Given the description of an element on the screen output the (x, y) to click on. 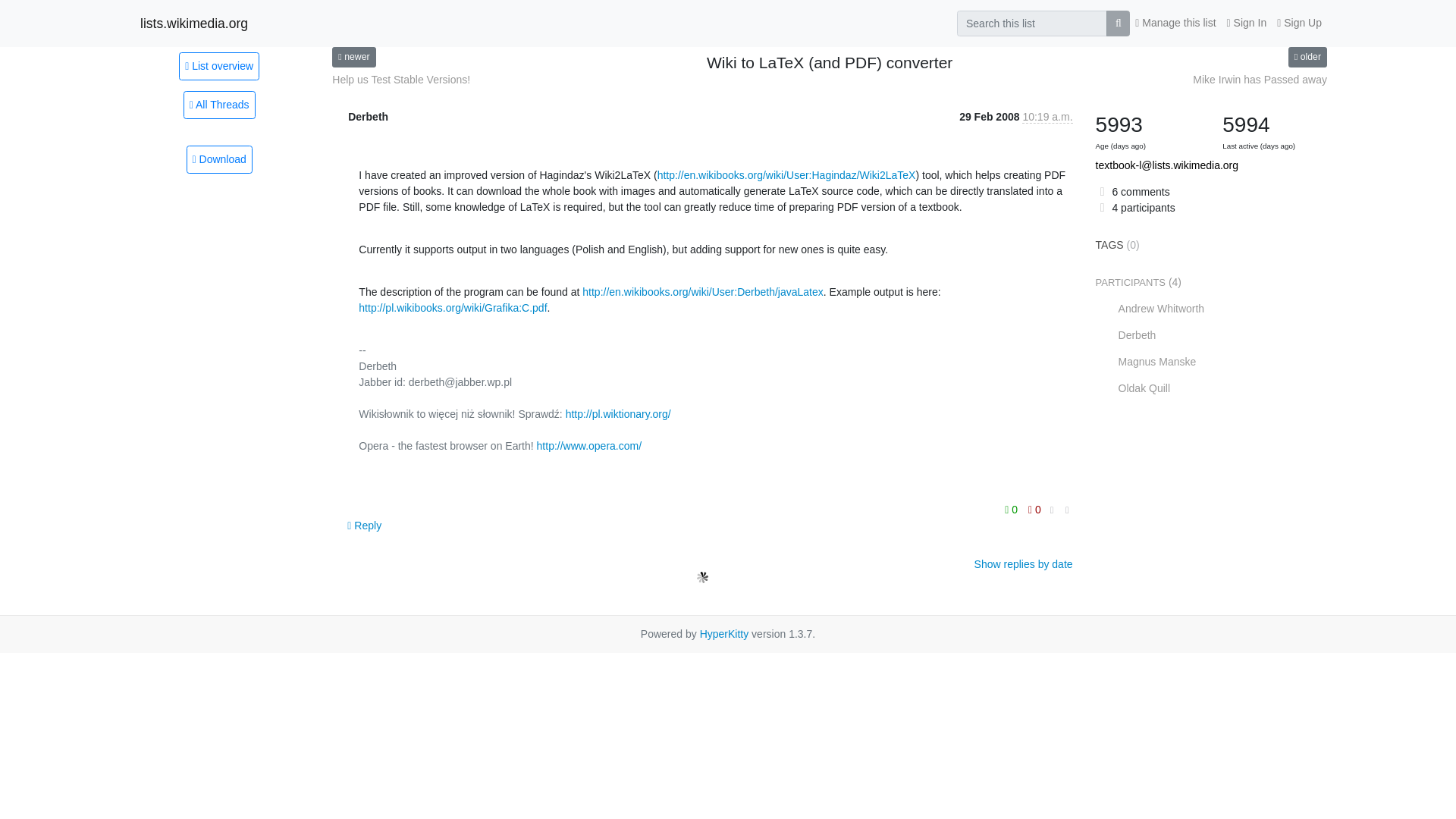
Sender's time: Feb. 29, 2008, 11:19 a.m. (1046, 116)
Sign In (1246, 22)
Mike Irwin has Passed away (1259, 79)
Display in fixed font (1052, 510)
List overview (219, 65)
Manage this list (1175, 22)
Permalink for this message (1067, 510)
newer (353, 56)
Mike Irwin has Passed away (1259, 79)
This thread in gzipped mbox format (218, 159)
Sign Up (1298, 22)
Help us Test Stable Versions! (400, 79)
Help us Test Stable Versions! (400, 79)
You must be logged-in to vote. (1035, 509)
lists.wikimedia.org (193, 22)
